Given the description of an element on the screen output the (x, y) to click on. 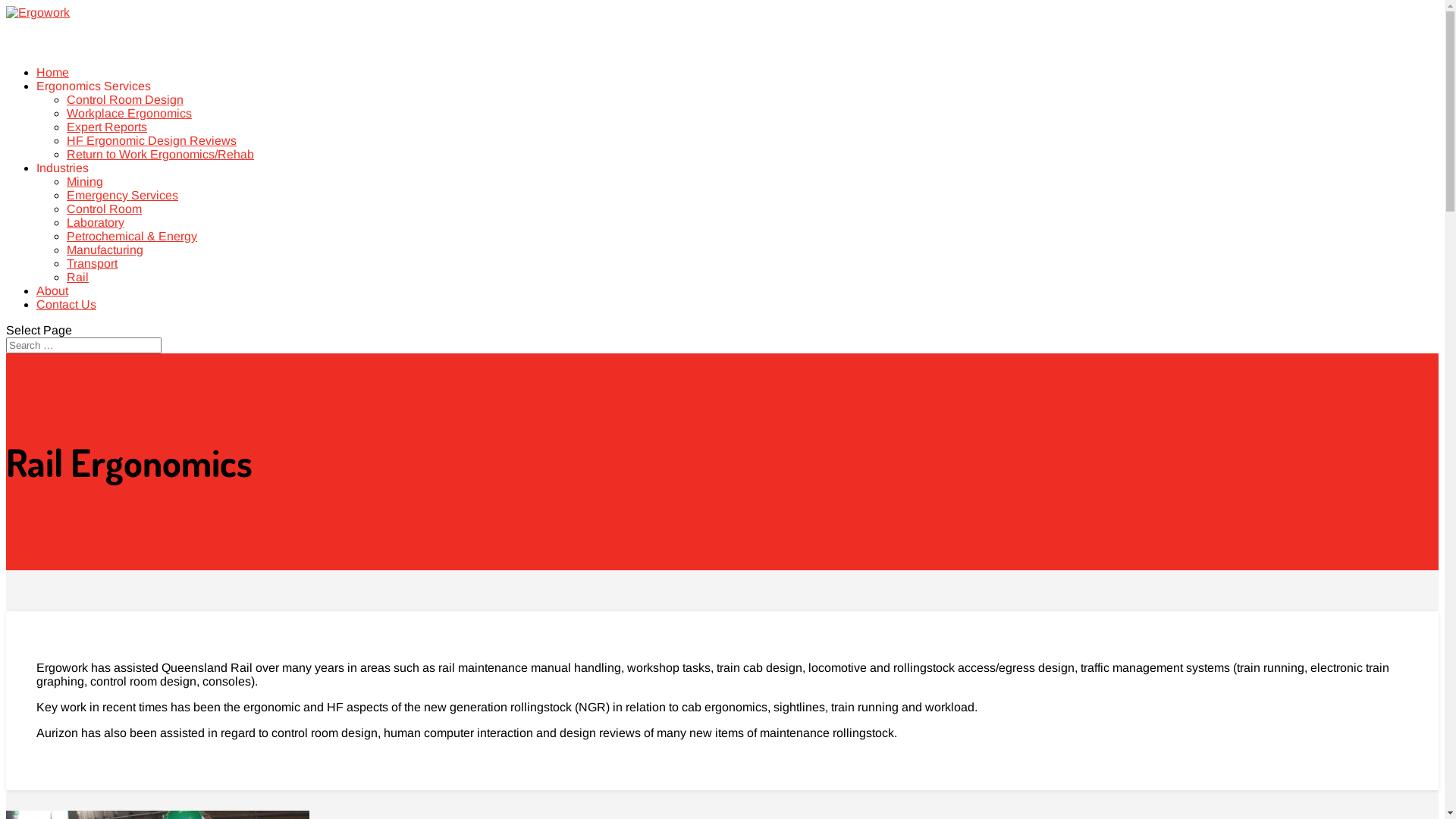
Search for: Element type: hover (83, 345)
Rail Element type: text (77, 276)
Control Room Design Element type: text (124, 99)
Return to Work Ergonomics/Rehab Element type: text (160, 153)
Laboratory Element type: text (95, 222)
About Element type: text (52, 307)
Expert Reports Element type: text (106, 126)
Workplace Ergonomics Element type: text (128, 112)
Home Element type: text (52, 88)
Petrochemical & Energy Element type: text (131, 235)
Ergonomics Services Element type: text (93, 102)
Industries Element type: text (62, 184)
Mining Element type: text (84, 181)
Emergency Services Element type: text (122, 194)
Transport Element type: text (91, 263)
HF Ergonomic Design Reviews Element type: text (151, 140)
Contact Us Element type: text (66, 321)
Manufacturing Element type: text (104, 249)
Control Room Element type: text (103, 208)
